Given the description of an element on the screen output the (x, y) to click on. 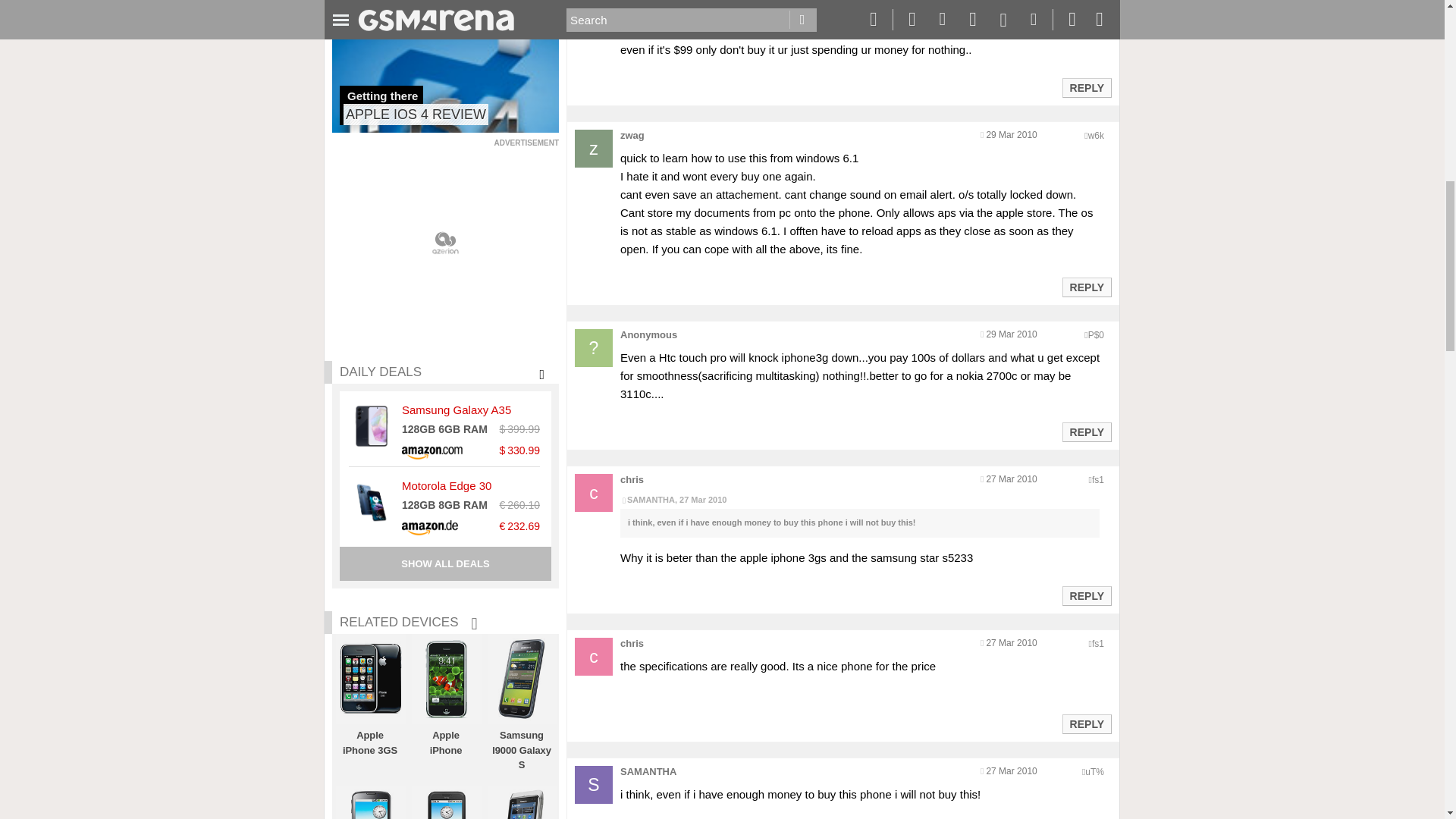
Reply to this post (1086, 595)
Reply to this post (1086, 287)
Encoded anonymized location (1097, 643)
Encoded anonymized location (1095, 335)
Reply to this post (1086, 431)
Encoded anonymized location (1097, 480)
Reply to this post (1086, 87)
Encoded anonymized location (1095, 135)
